Given the description of an element on the screen output the (x, y) to click on. 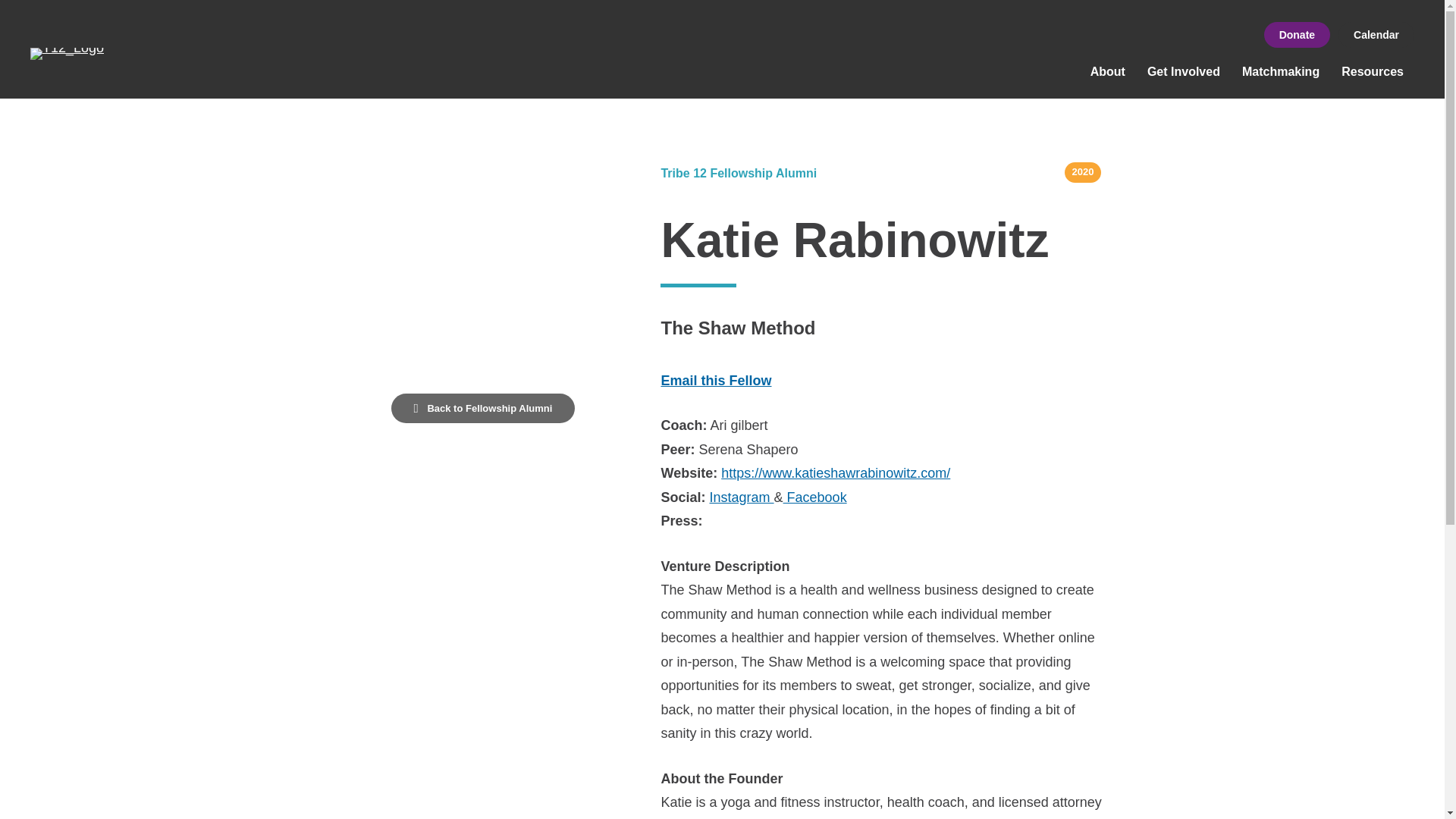
Donate (1296, 34)
Matchmaking (1280, 71)
Tribe12FellowshipHeadshots-4-scaled (482, 265)
Email this Fellow (716, 380)
Back to Fellowship Alumni (483, 408)
Instagram (742, 497)
Calendar (1375, 34)
Get Involved (1183, 71)
Facebook (815, 497)
About (1107, 71)
Resources (1371, 71)
